Given the description of an element on the screen output the (x, y) to click on. 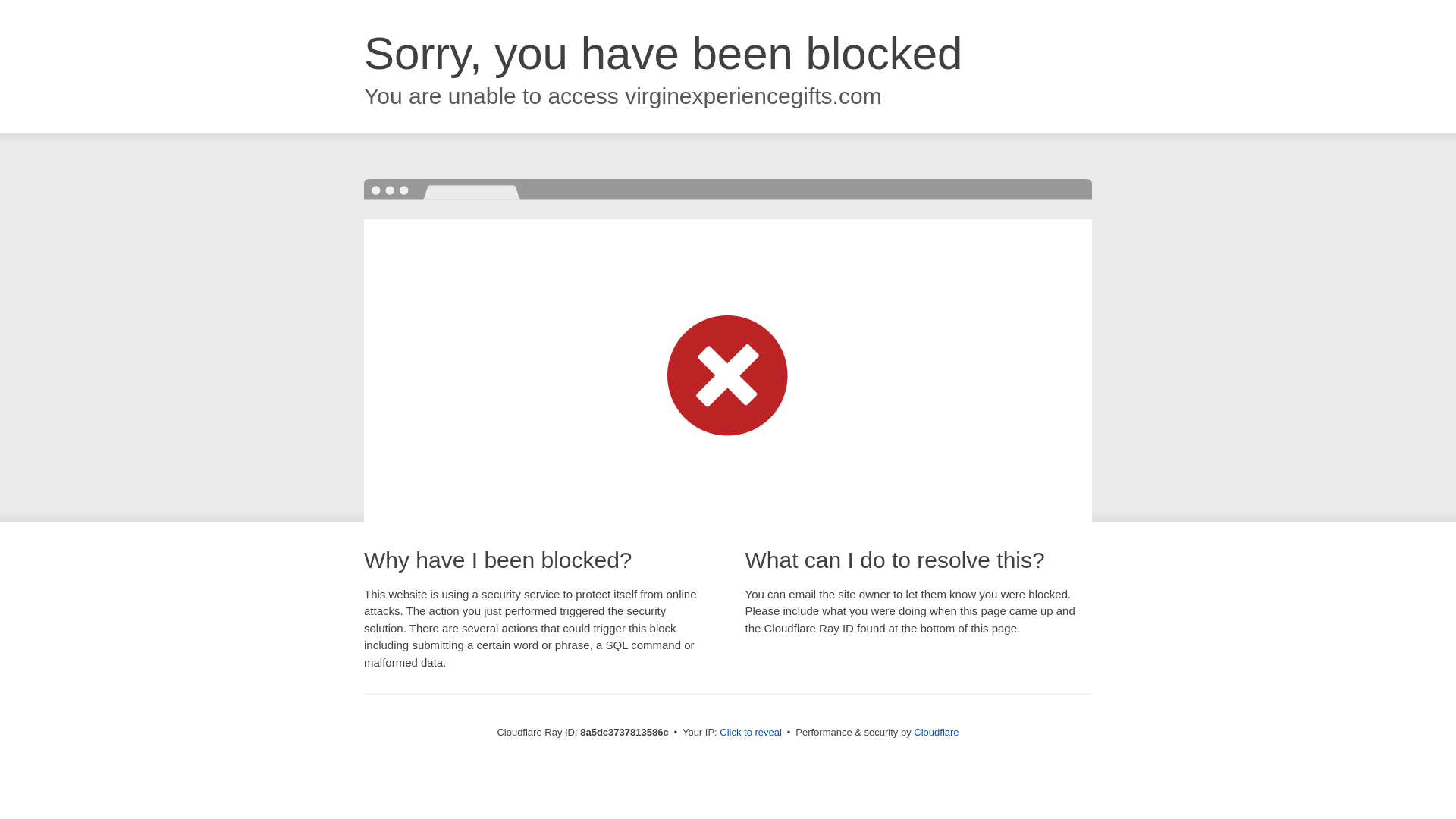
Cloudflare (936, 731)
Click to reveal (750, 732)
